Given the description of an element on the screen output the (x, y) to click on. 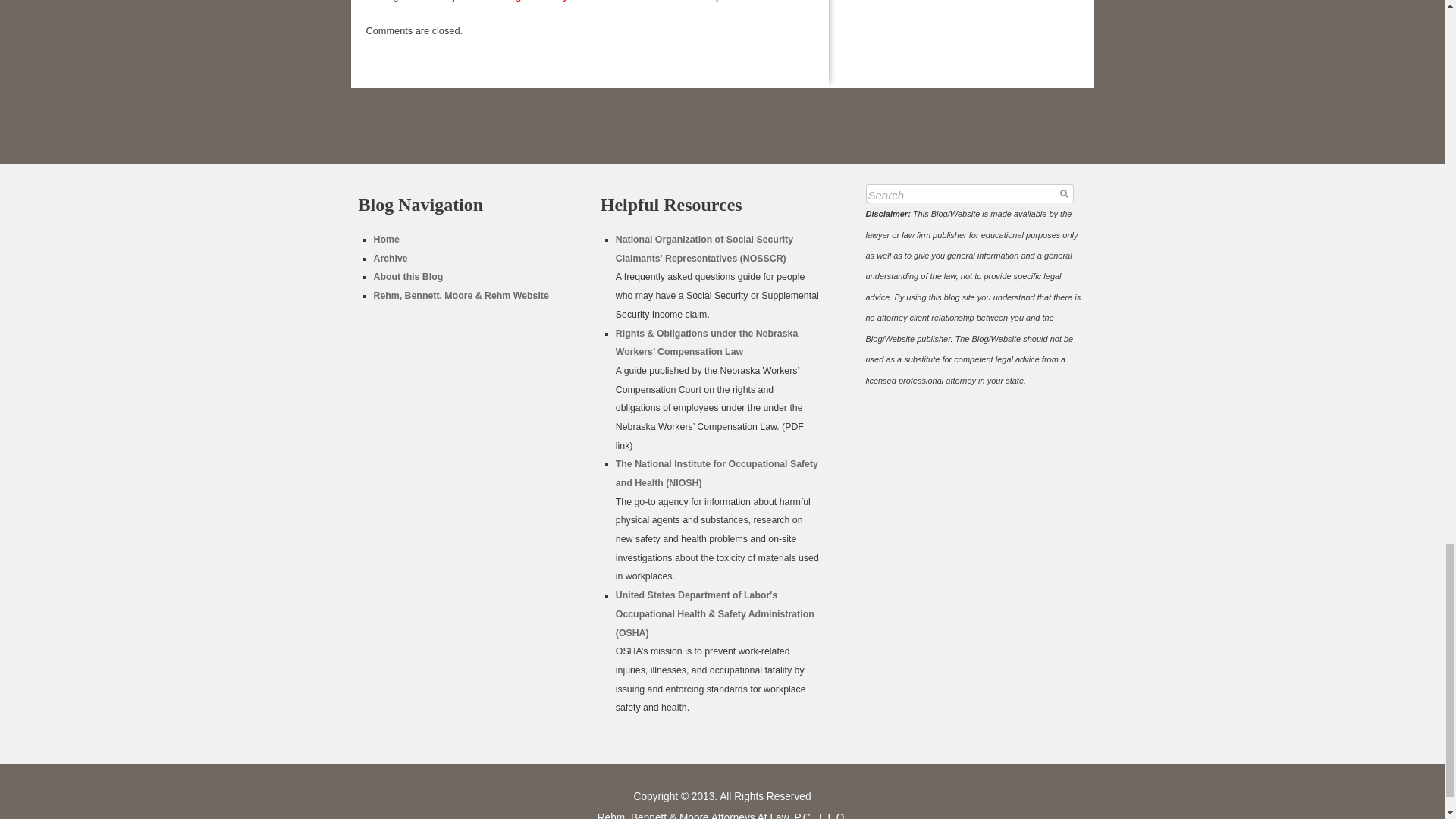
Search (969, 196)
